Given the description of an element on the screen output the (x, y) to click on. 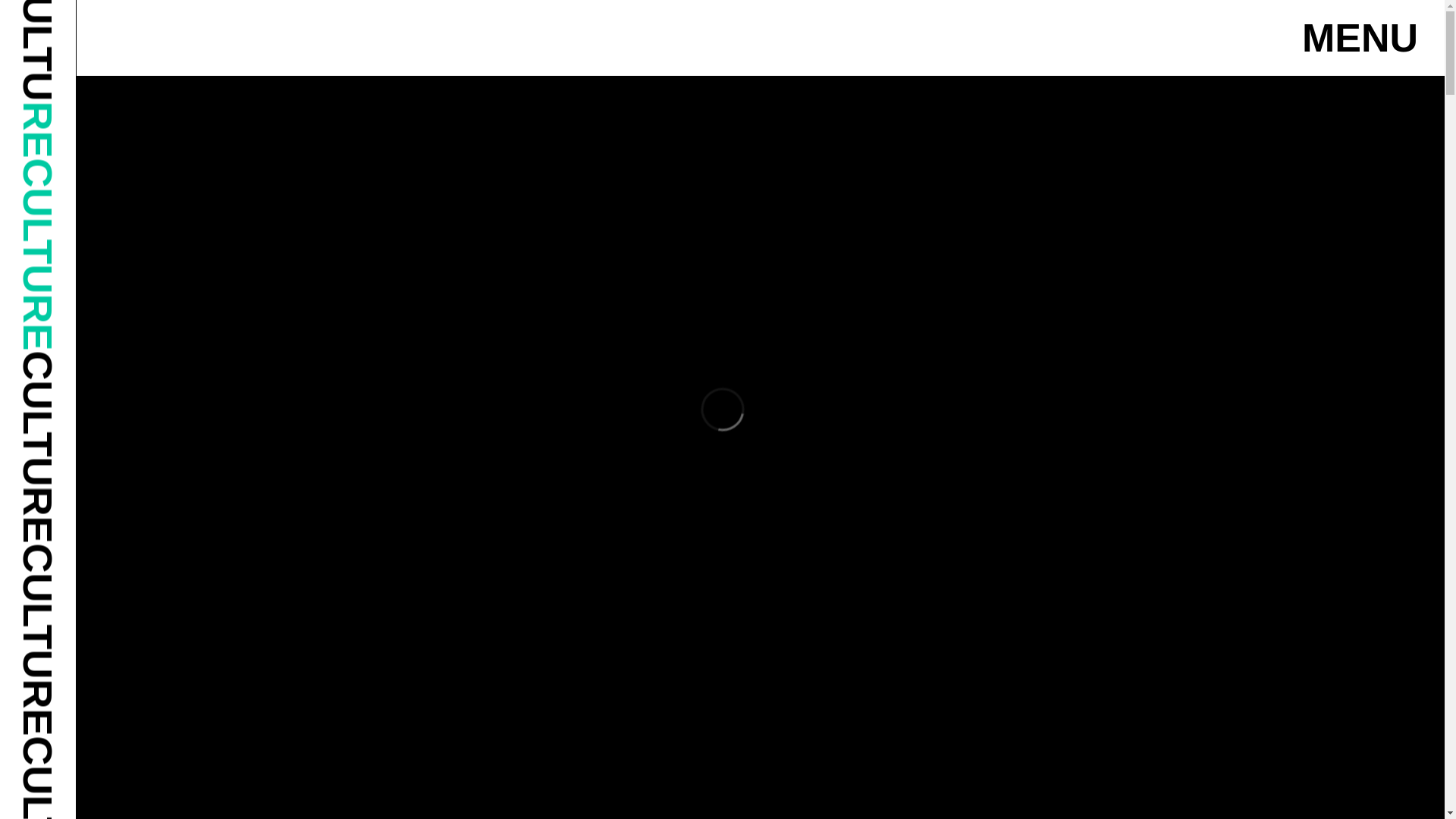
Menu (1359, 38)
MENU (1359, 38)
